Given the description of an element on the screen output the (x, y) to click on. 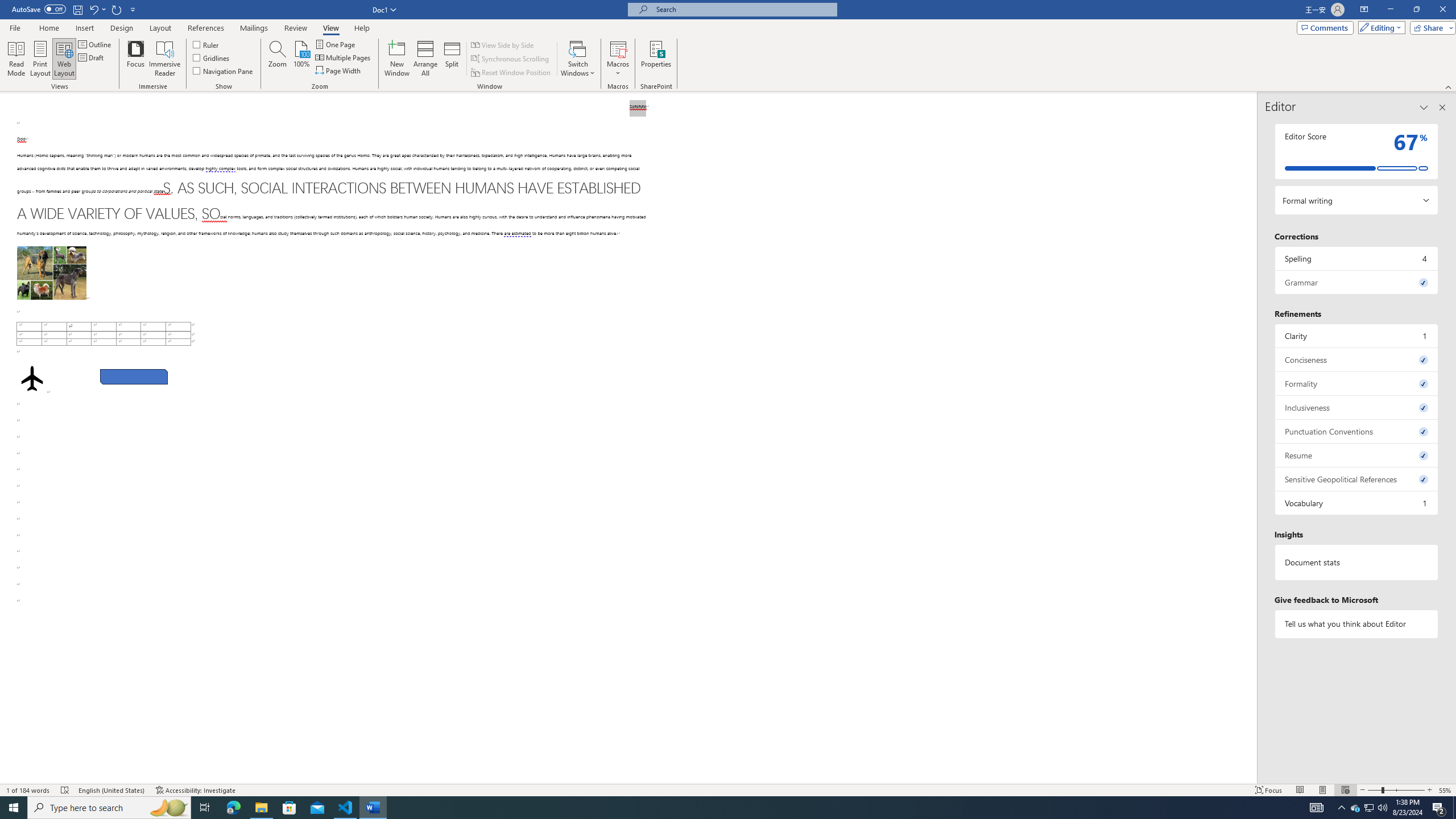
Undo Paragraph Alignment (92, 9)
Class: MsoCommandBar (728, 45)
Document statistics (1356, 561)
Focus (135, 58)
Split (451, 58)
Repeat Paragraph Alignment (117, 9)
100% (301, 58)
Morphological variation in six dogs (51, 272)
